Given the description of an element on the screen output the (x, y) to click on. 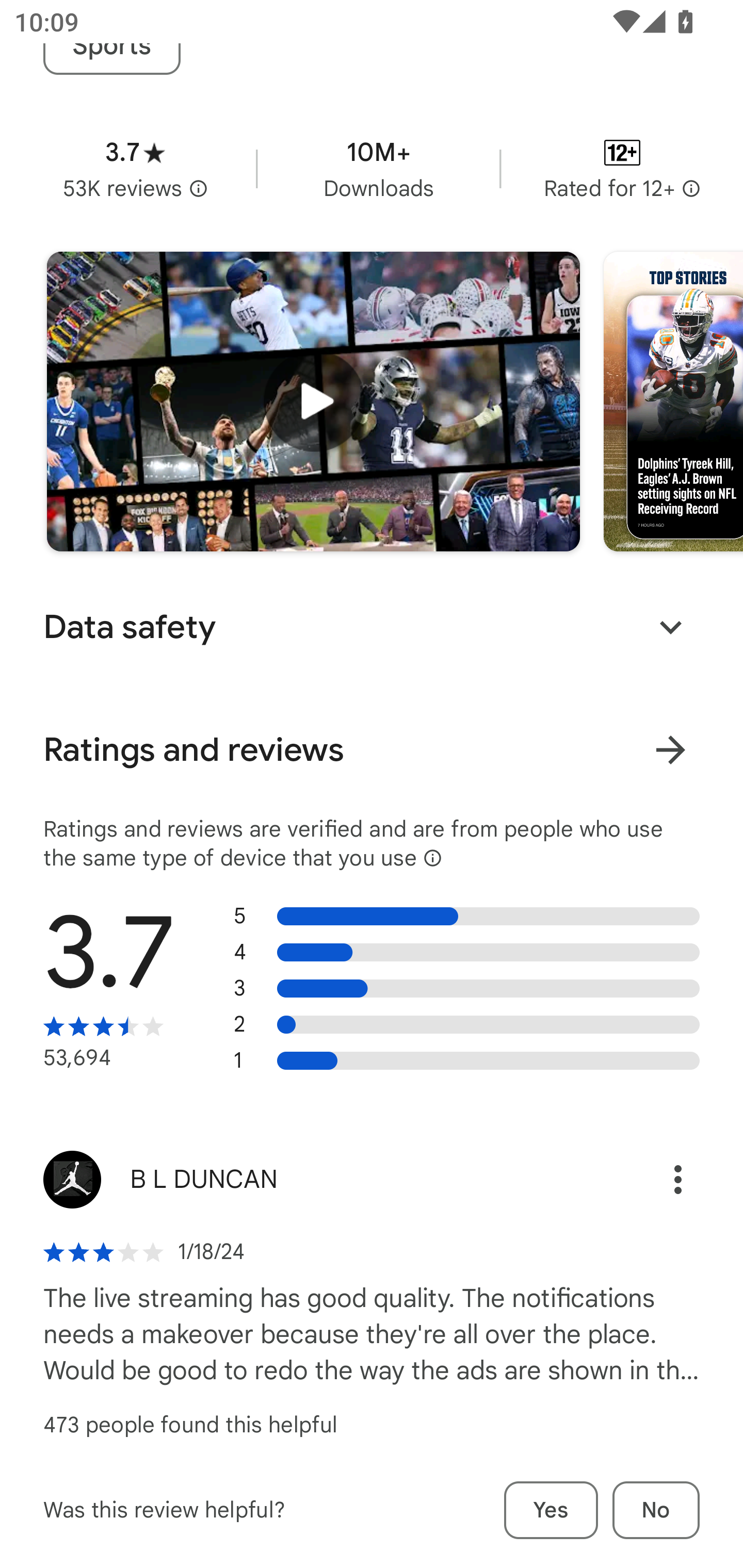
Average rating 3.7 stars in 53 thousand reviews (135, 168)
Content rating Rated for 12+ (622, 168)
Play trailer for "FOX Sports: Watch Live" (313, 401)
Data safety Expand (371, 627)
Expand (670, 627)
Ratings and reviews View all ratings and reviews (371, 750)
View all ratings and reviews (670, 750)
Options (655, 1179)
Yes (550, 1510)
No (655, 1510)
